Given the description of an element on the screen output the (x, y) to click on. 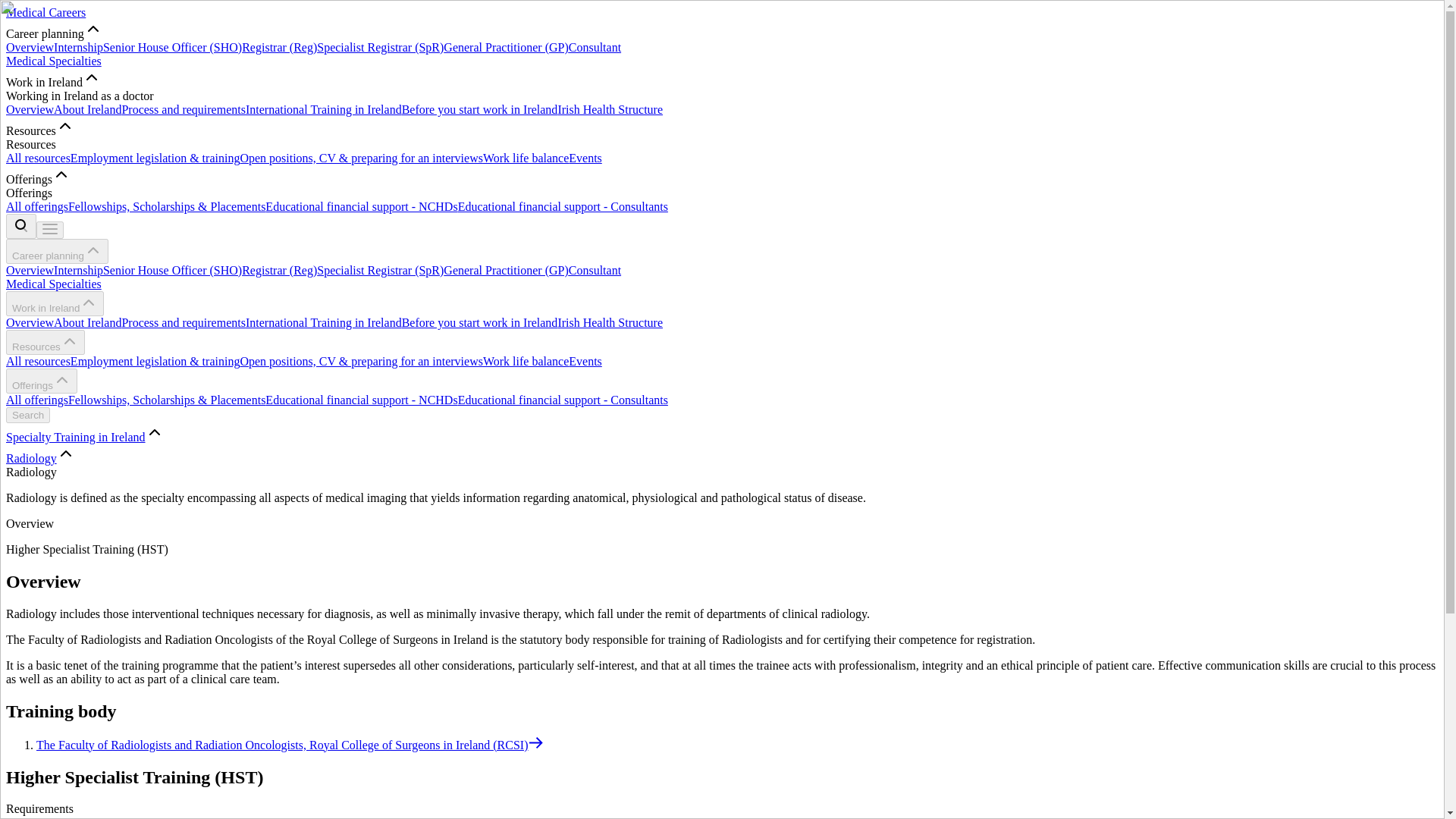
Process and requirements (183, 322)
International Training in Ireland (323, 109)
All resources (37, 157)
About Ireland (86, 109)
Events (585, 157)
Work life balance (526, 157)
Overview (29, 322)
Work in Ireland (54, 303)
Medical Specialties (53, 60)
Medical Specialties (53, 283)
